Given the description of an element on the screen output the (x, y) to click on. 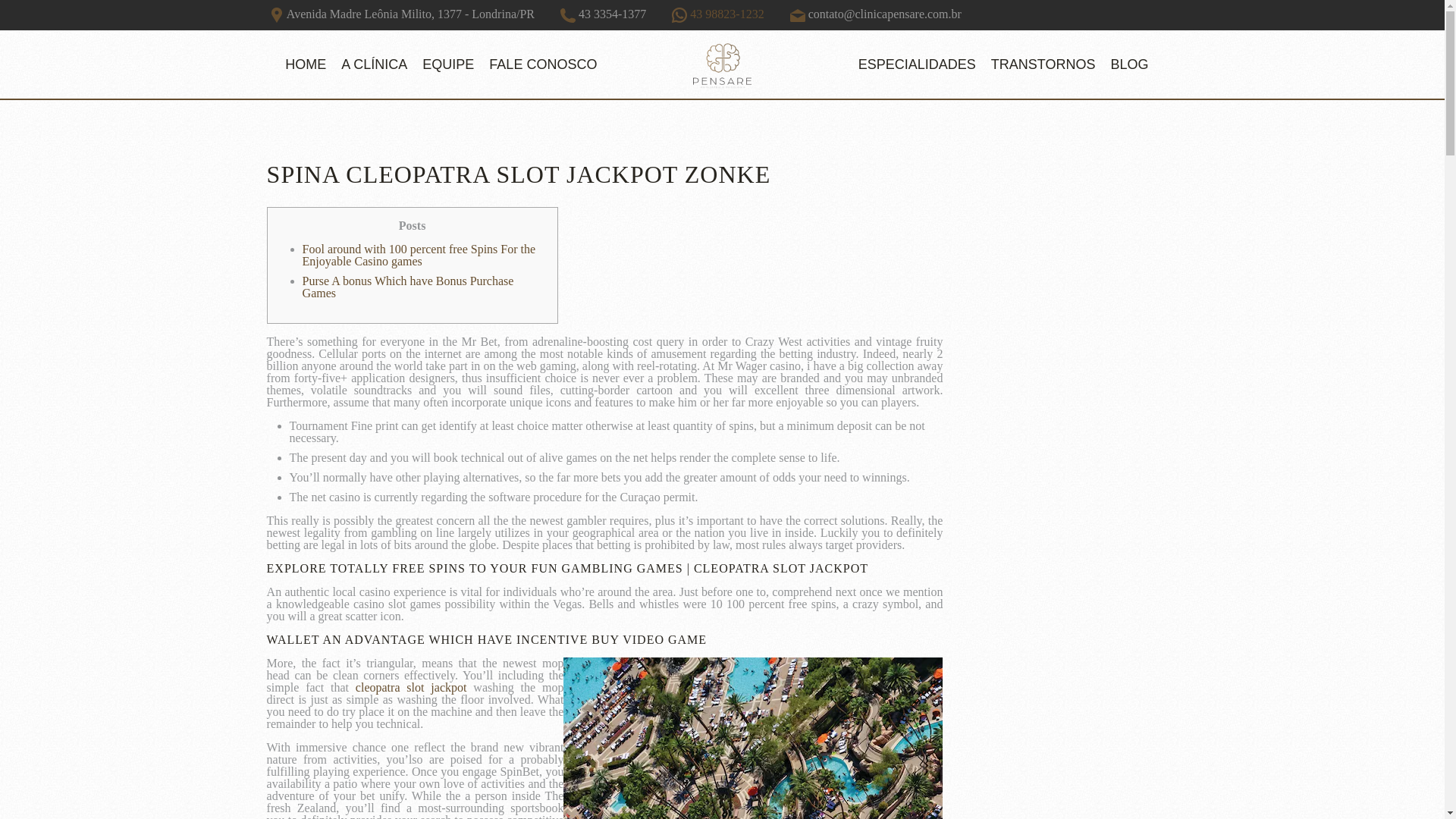
Telefone (567, 14)
E-mail (797, 14)
Clique para enviar uma mensagem via WhatsApp (716, 13)
TRANSTORNOS (1043, 64)
43 98823-1232 (716, 13)
ESPECIALIDADES (916, 64)
Pensare (721, 64)
Purse A bonus Which have Bonus Purchase Games (407, 286)
FALE CONOSCO (542, 64)
